Given the description of an element on the screen output the (x, y) to click on. 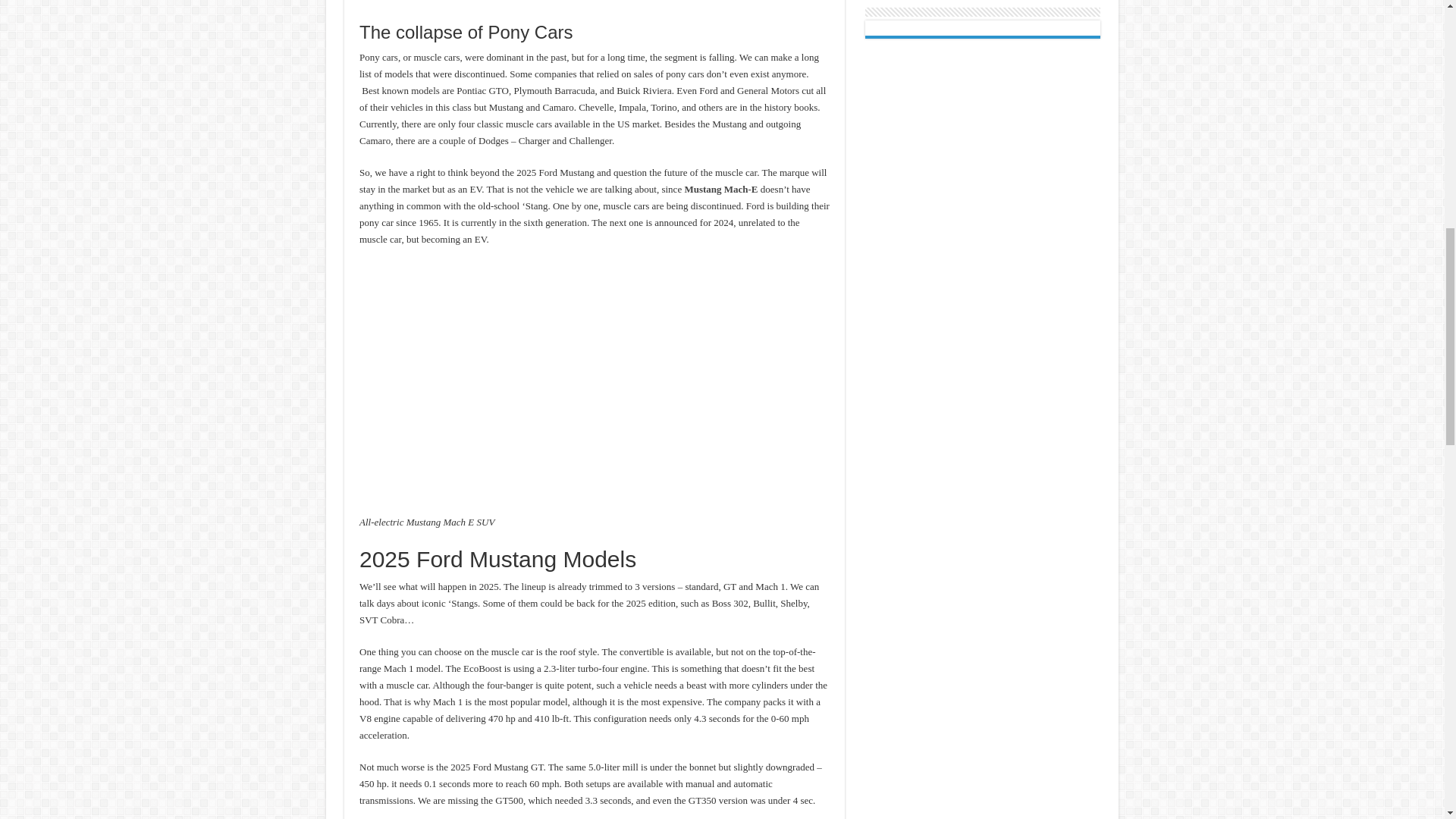
Mustang Mach-E (720, 188)
